Given the description of an element on the screen output the (x, y) to click on. 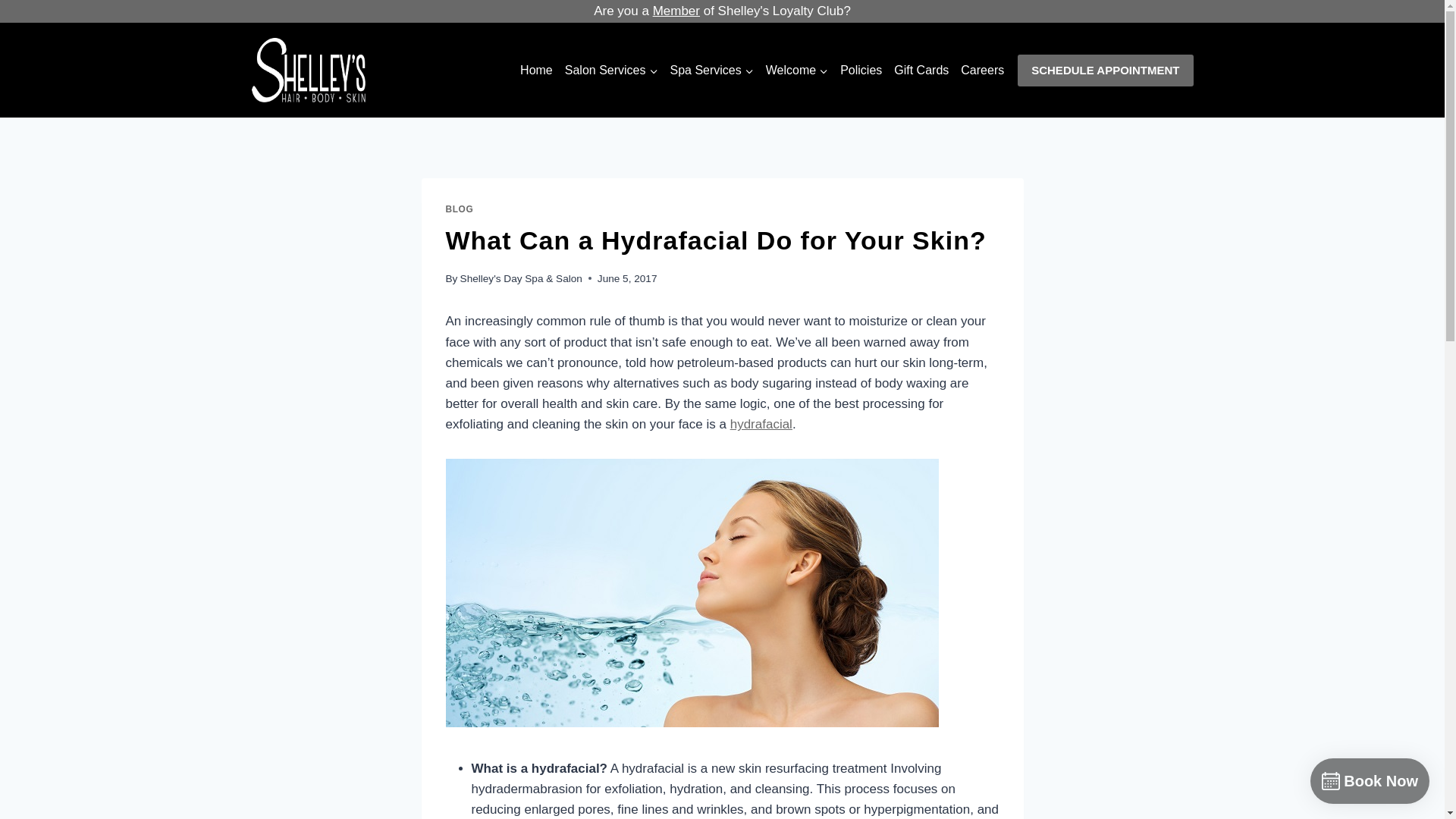
Careers (982, 69)
Home (536, 69)
SCHEDULE APPOINTMENT (1104, 70)
What Can a Hydrafacial Do for Your Skin? (692, 592)
hydrafacial (761, 423)
Welcome (797, 69)
Policies (861, 69)
Gift Cards (921, 69)
Member (676, 11)
BLOG (459, 208)
Spa Services (710, 69)
Salon Services (611, 69)
